Given the description of an element on the screen output the (x, y) to click on. 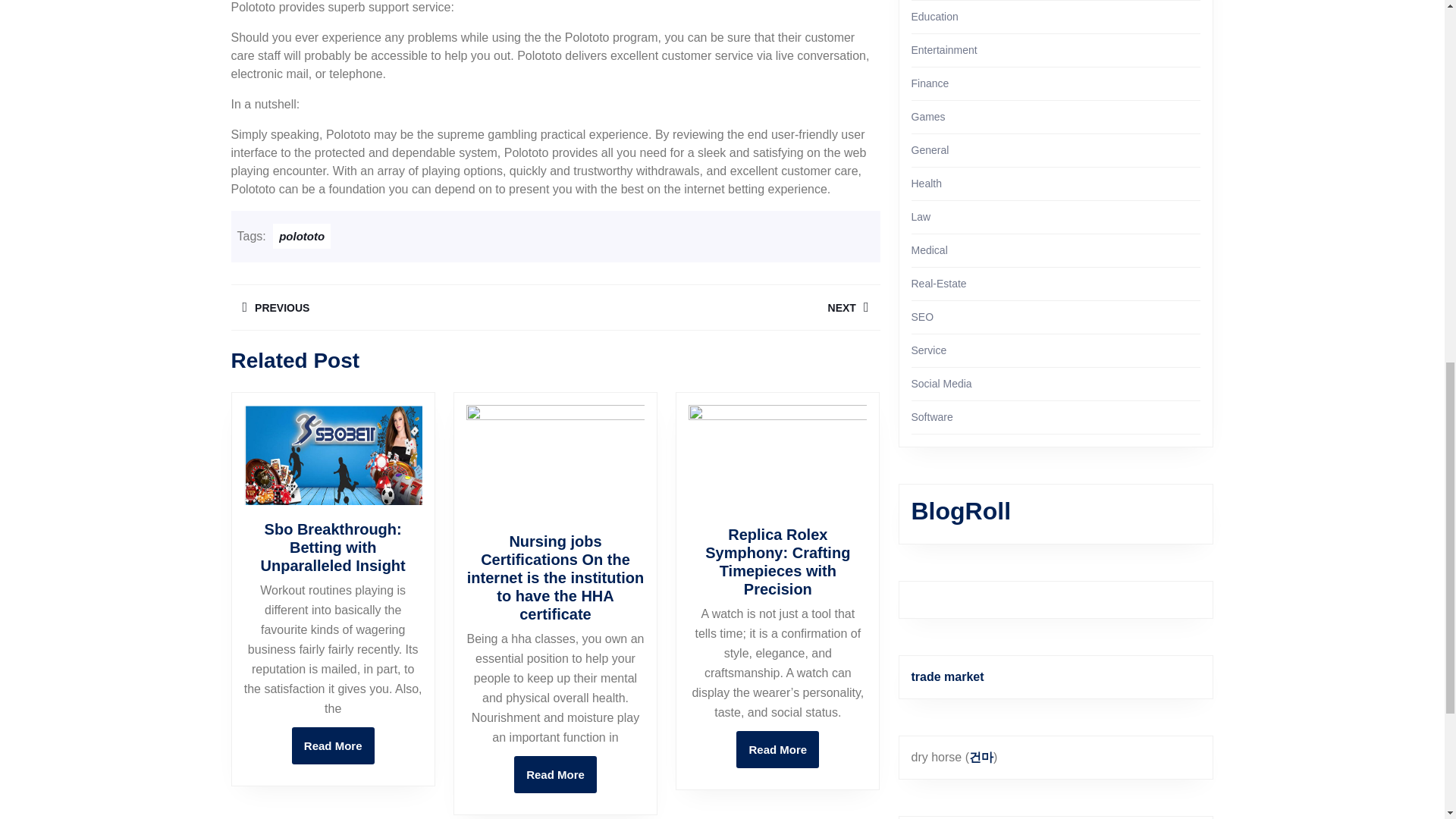
Finance (777, 749)
Health (930, 82)
Law (926, 183)
polototo (716, 307)
General (921, 216)
